Given the description of an element on the screen output the (x, y) to click on. 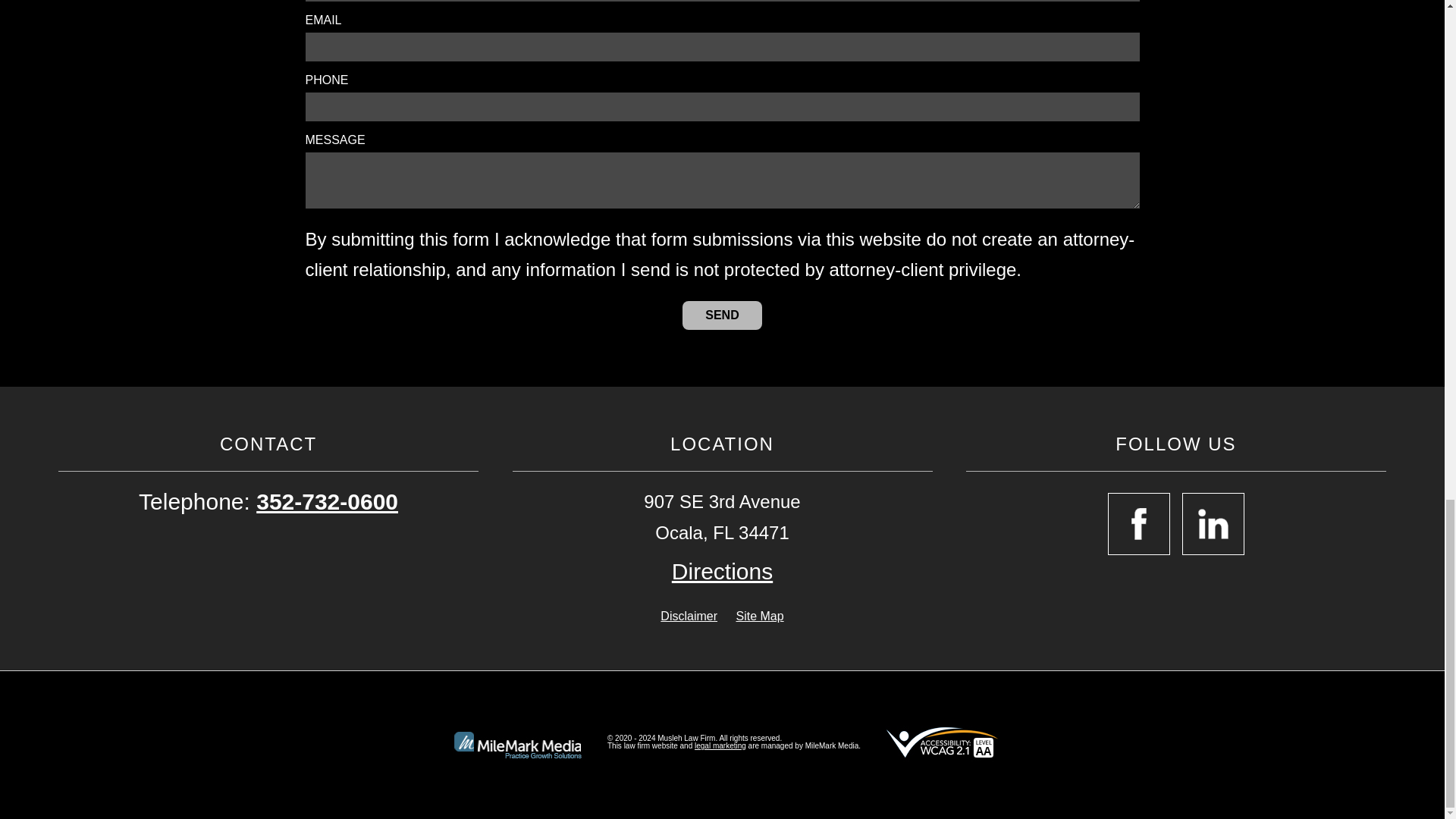
Open Linkedin in a New Window (1213, 524)
Send (721, 315)
Open Google Map in a New Window (722, 571)
Open Facebook in a New Window (1139, 524)
Open MileMarkMedia.com in a New Window (719, 746)
